Given the description of an element on the screen output the (x, y) to click on. 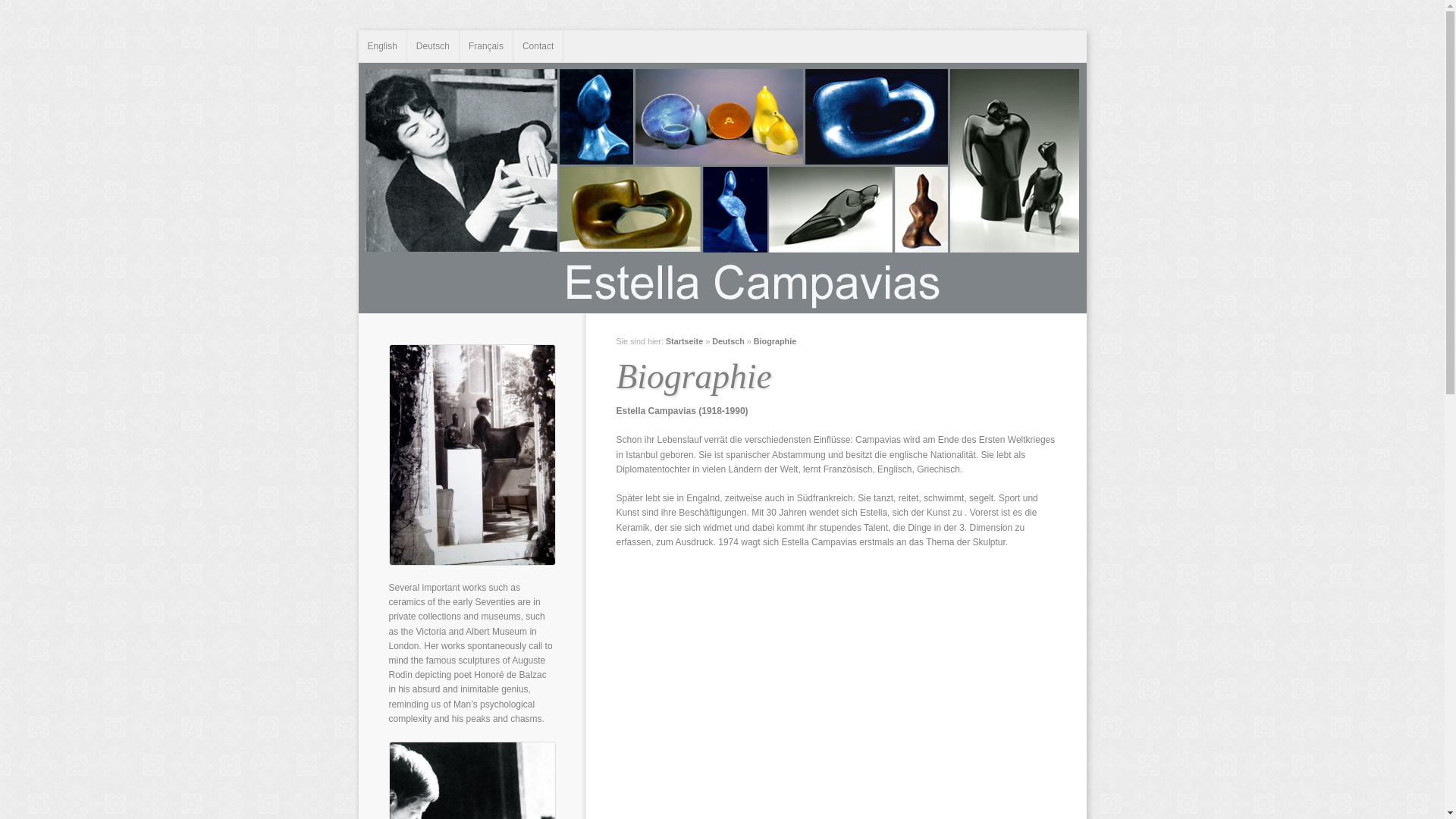
Deutsch Element type: text (728, 340)
Startseite Element type: text (683, 340)
English Element type: text (381, 46)
Deutsch Element type: text (433, 46)
Biographie Element type: text (774, 340)
Contact Element type: text (538, 46)
